Given the description of an element on the screen output the (x, y) to click on. 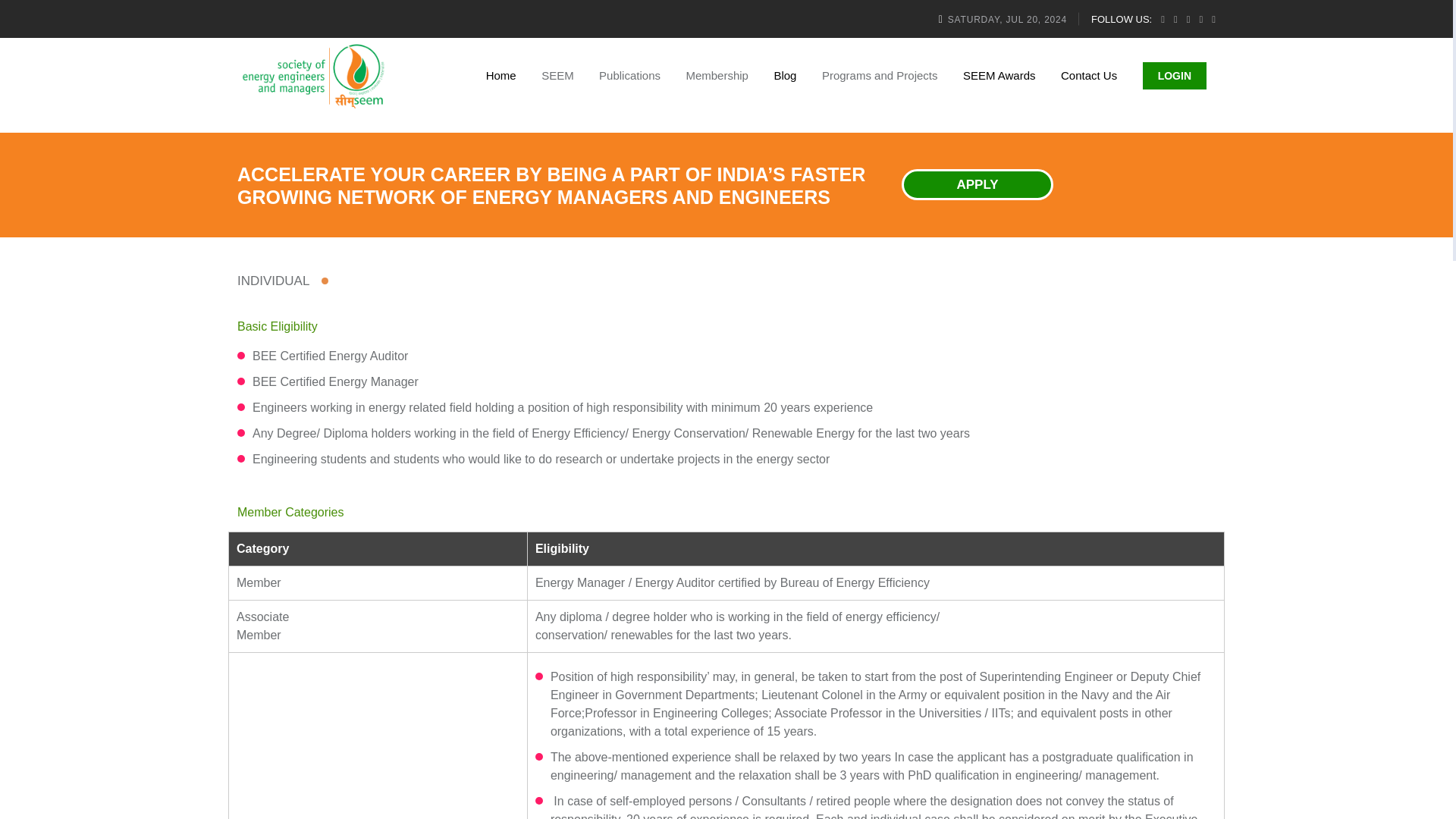
LOGIN (1176, 75)
Membership (716, 75)
Programs and Projects (879, 75)
Publications (629, 75)
SEEM Awards (999, 75)
